Given the description of an element on the screen output the (x, y) to click on. 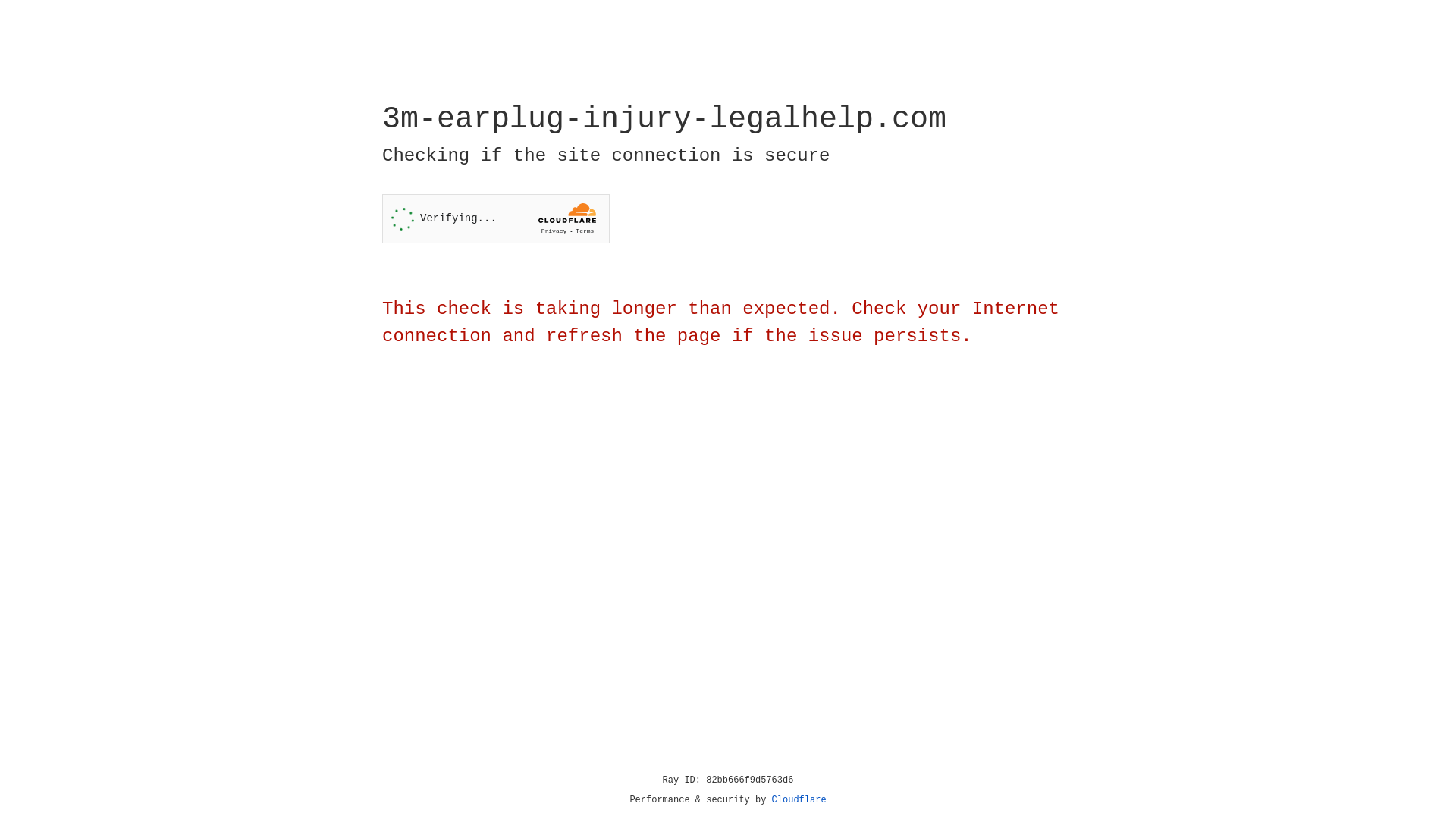
Cloudflare Element type: text (798, 799)
Widget containing a Cloudflare security challenge Element type: hover (495, 218)
